Given the description of an element on the screen output the (x, y) to click on. 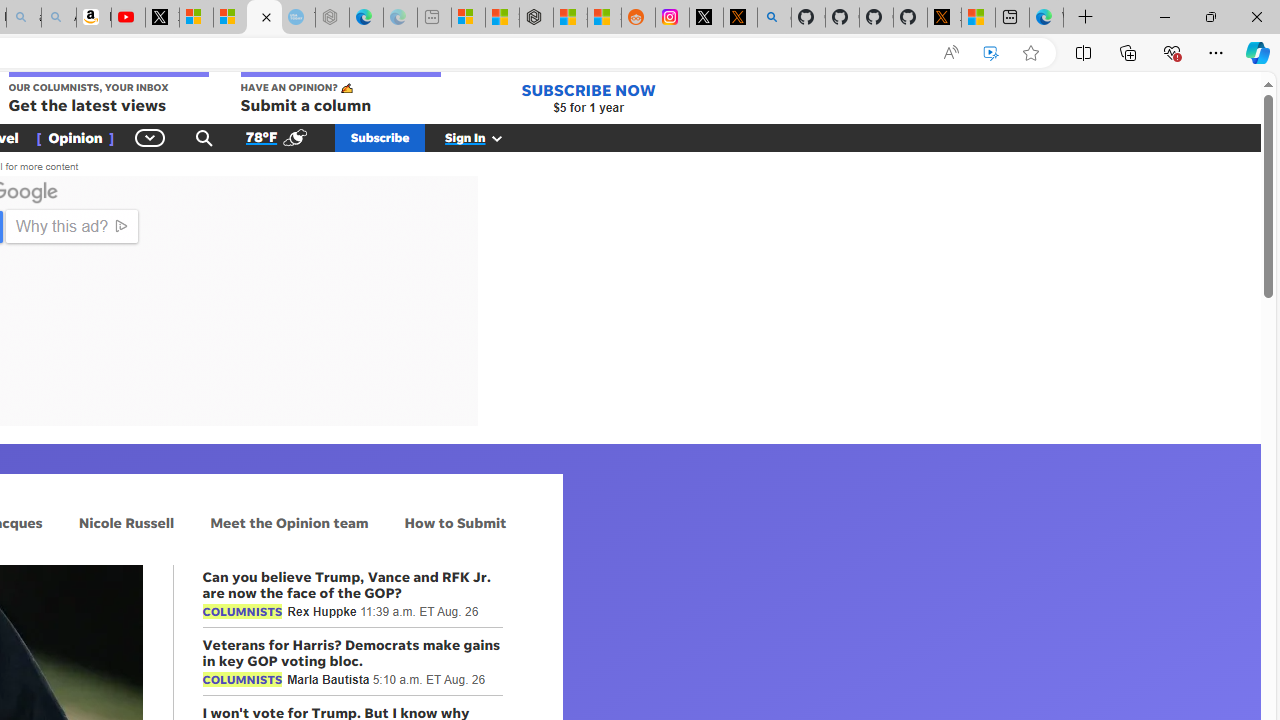
X Privacy Policy (944, 17)
Temenos (47, 385)
Global Navigation (150, 137)
[ Opinion ] (75, 137)
Nordace - Duffels (535, 17)
The most popular Google 'how to' searches - Sleeping (297, 17)
